Given the description of an element on the screen output the (x, y) to click on. 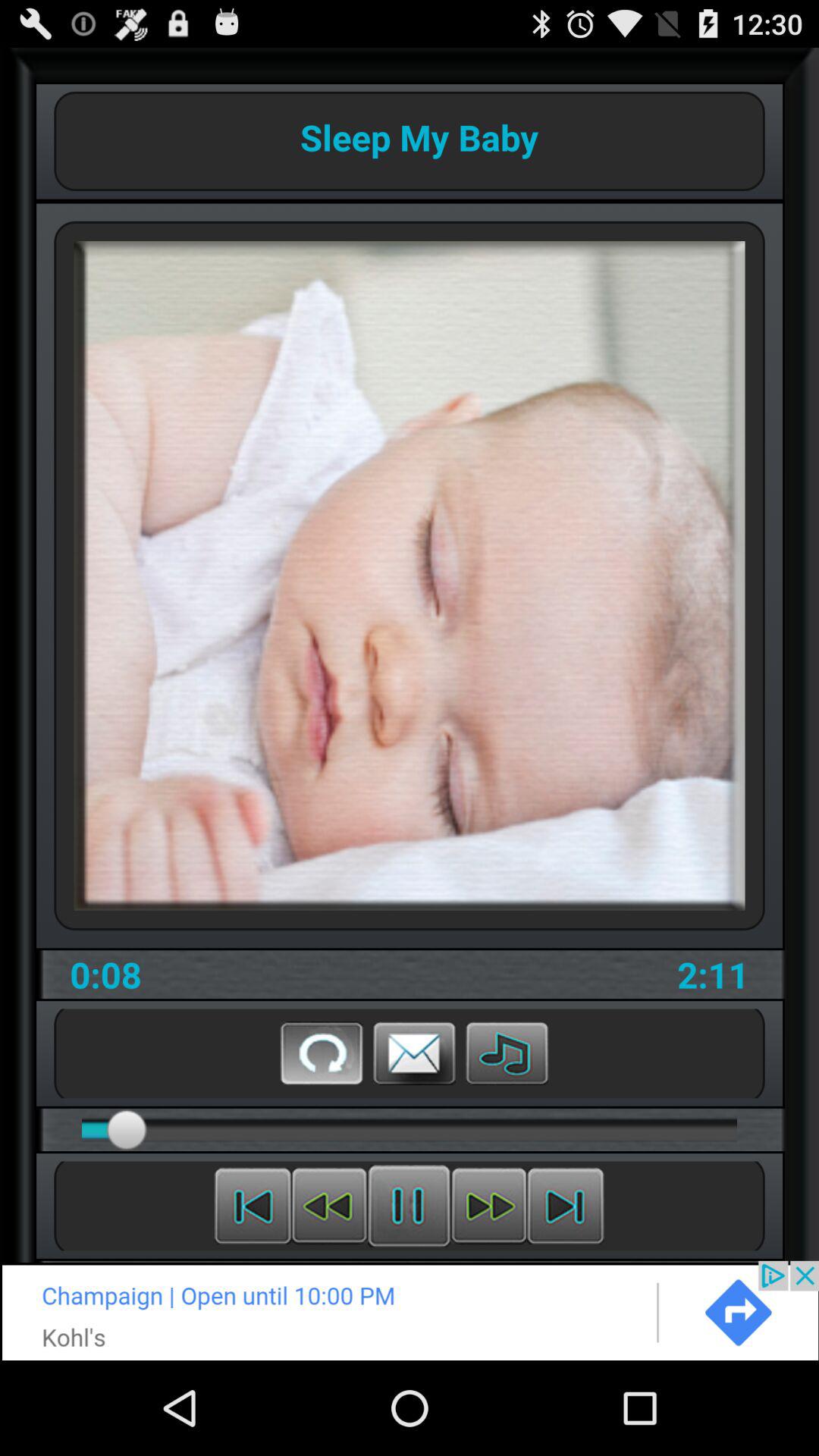
choose another lullaby (506, 1053)
